Given the description of an element on the screen output the (x, y) to click on. 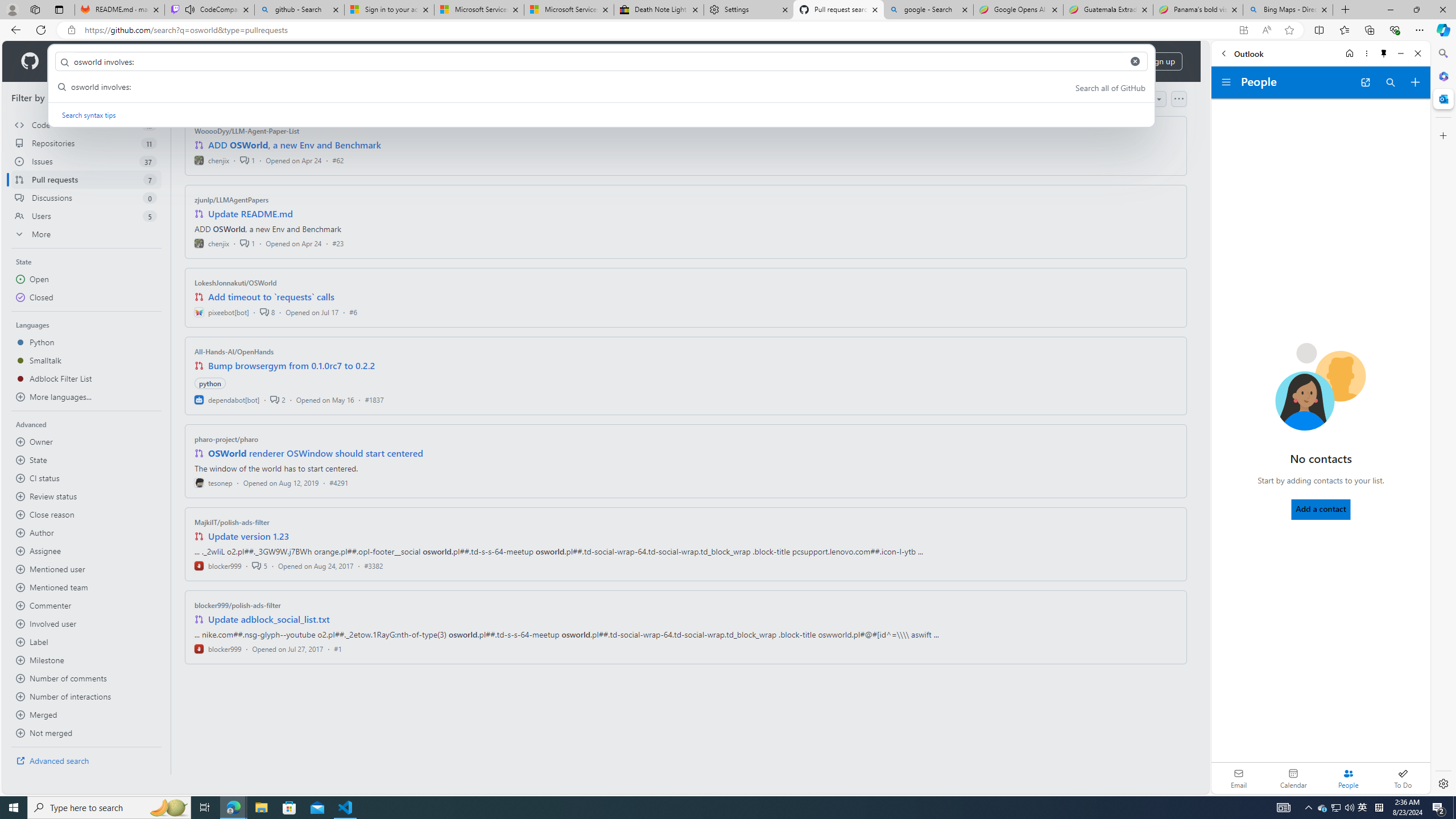
Create new contact (1414, 82)
Enterprise (319, 60)
Open in new tab (1365, 82)
Email (1238, 777)
#3382 (373, 565)
To Do (1402, 777)
